Given the description of an element on the screen output the (x, y) to click on. 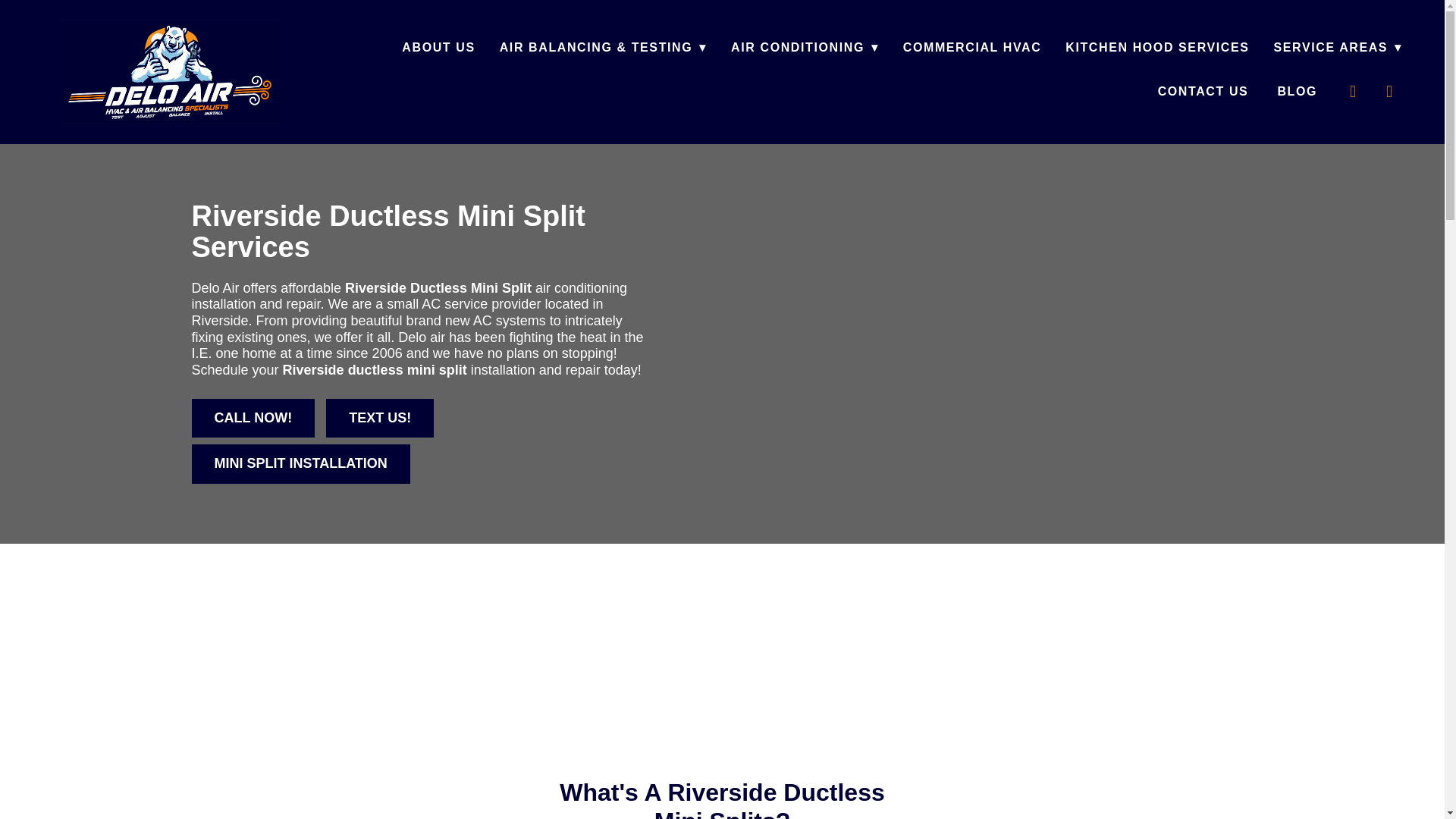
ABOUT US (437, 47)
TEXT US! (379, 418)
BLOG (1296, 91)
Riverside (312, 369)
COMMERCIAL HVAC (972, 47)
CALL NOW! (252, 418)
CONTACT US  (1205, 91)
KITCHEN HOOD SERVICES (1157, 47)
Ductless Mini Split (470, 287)
Delo Air (170, 71)
